Given the description of an element on the screen output the (x, y) to click on. 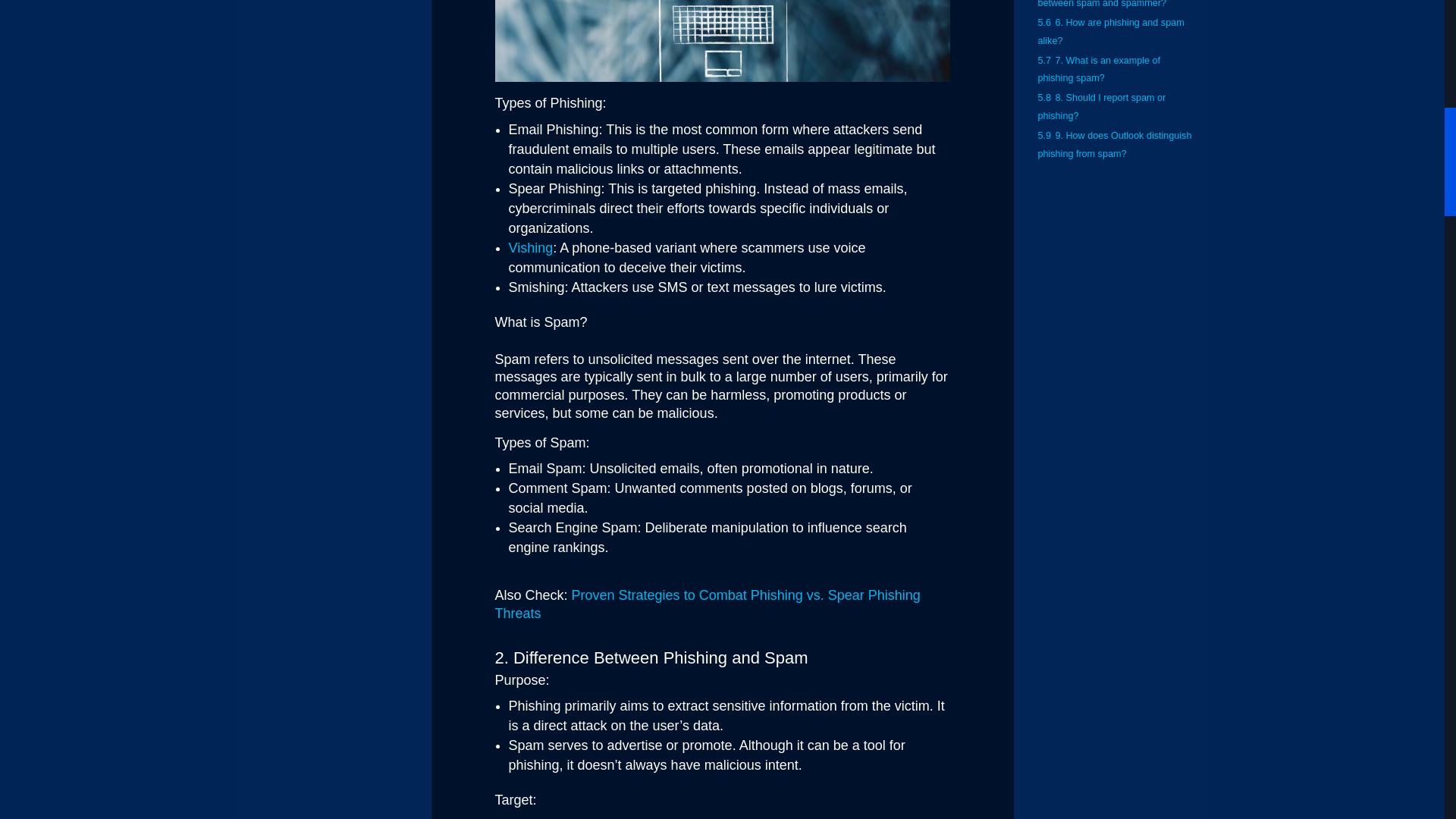
Vishing (530, 247)
